Given the description of an element on the screen output the (x, y) to click on. 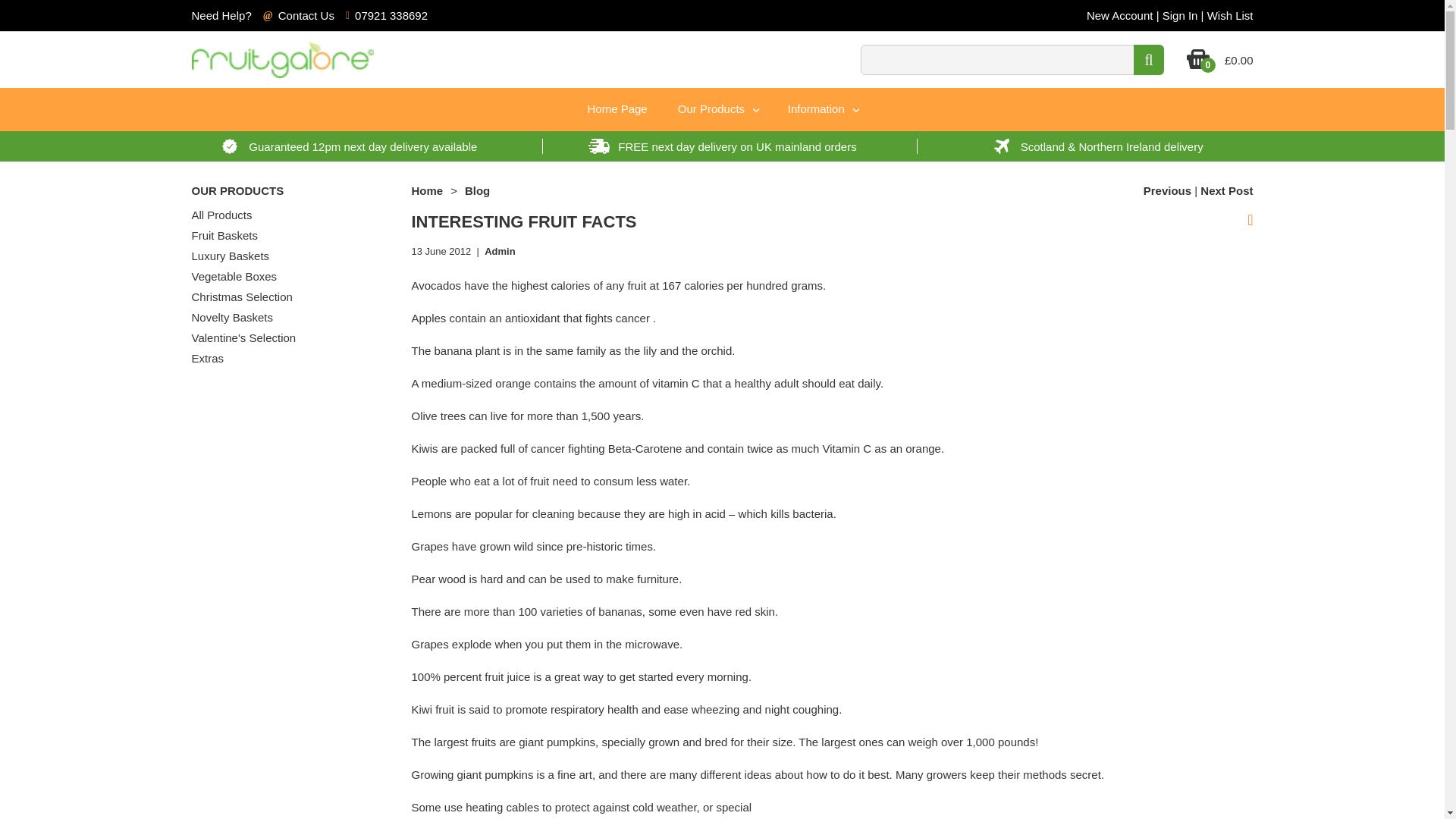
Christmas Selection (241, 296)
Novelty Baskets (231, 317)
Home Page (617, 108)
0 (1197, 65)
Sign In (1179, 15)
Luxury Baskets (229, 255)
FREE next day delivery on UK mainland orders (722, 145)
All Products (220, 214)
Vegetable Boxes (233, 276)
Fruit Baskets (223, 235)
Eat a variety of colours of fruit (1225, 190)
Information (822, 109)
Our Products (717, 109)
New Account (1119, 15)
